Given the description of an element on the screen output the (x, y) to click on. 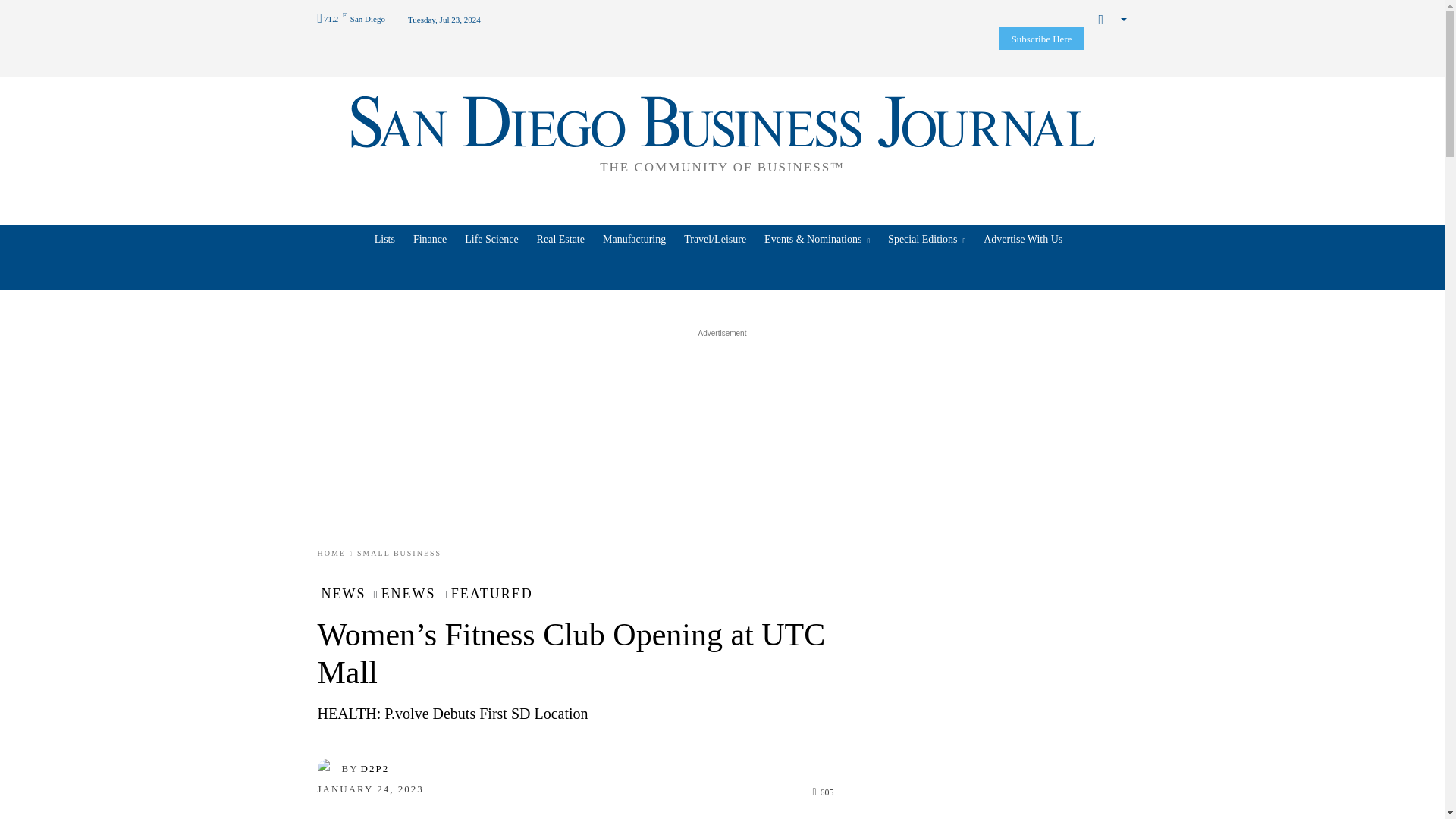
San Diego Business Journal Logo (721, 132)
